Given the description of an element on the screen output the (x, y) to click on. 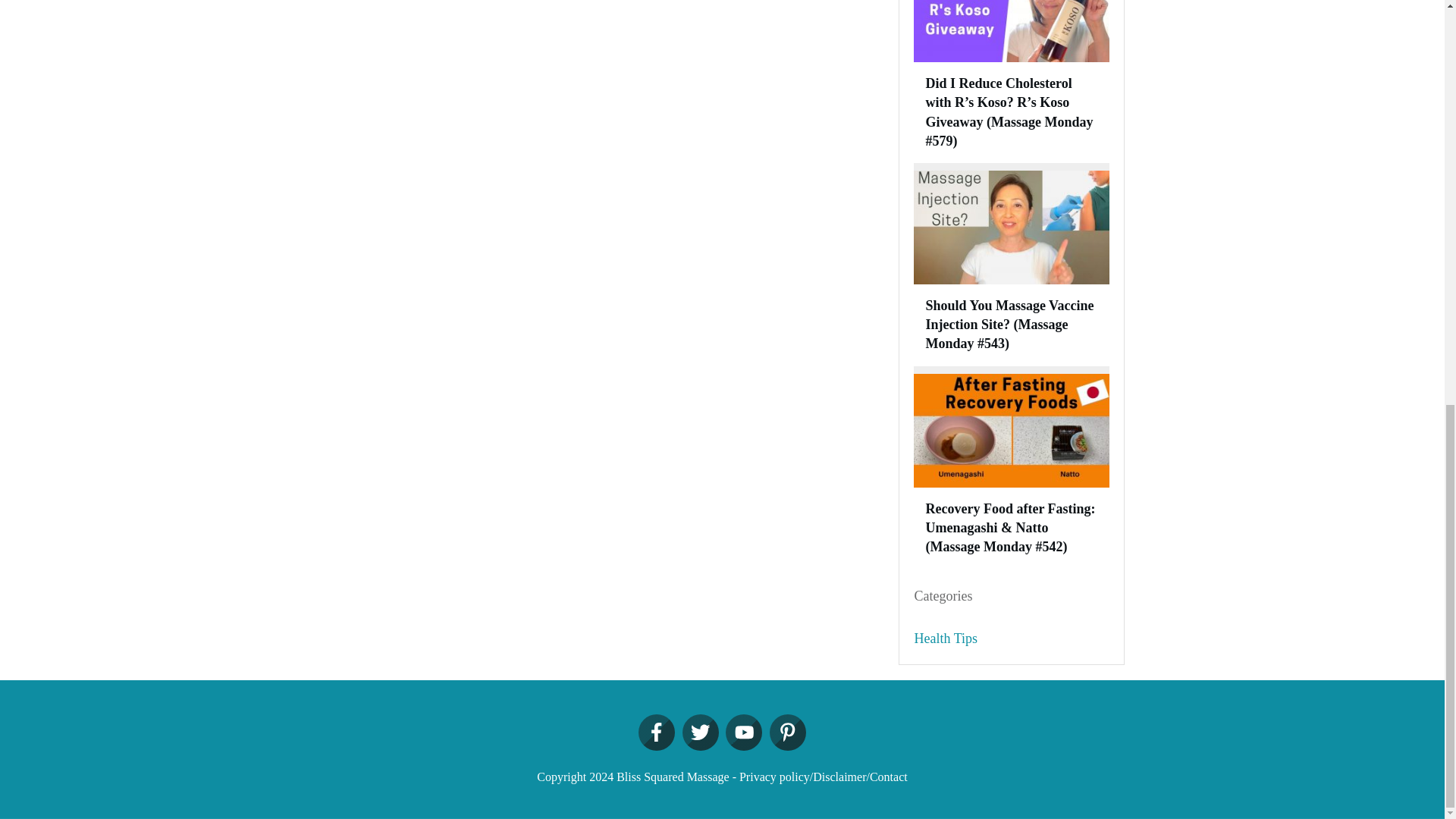
Privacy policy (774, 776)
Disclaimer (839, 776)
Contact (888, 776)
Health Tips (946, 638)
Health Tips (946, 638)
